Given the description of an element on the screen output the (x, y) to click on. 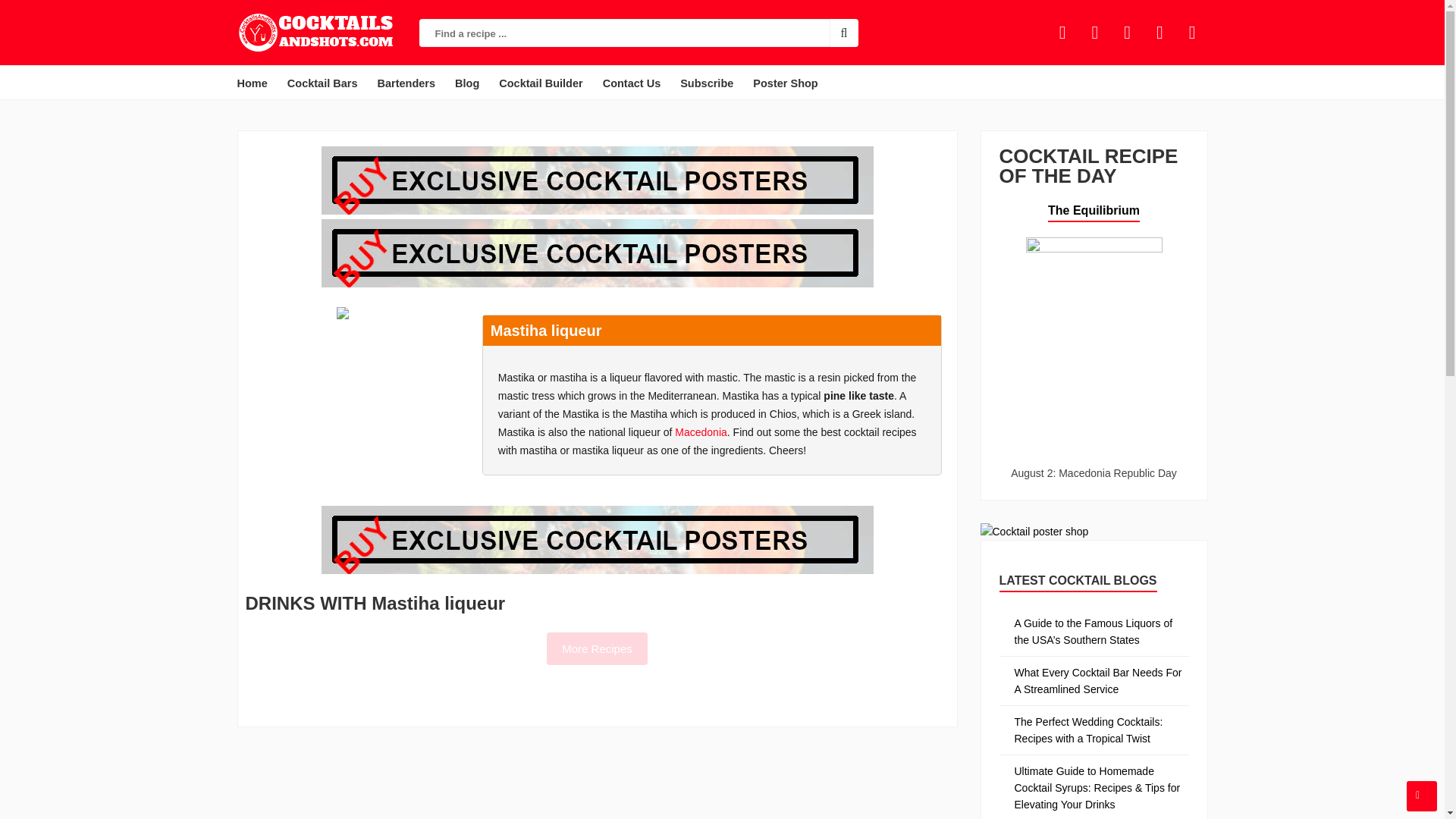
What Every Cocktail Bar Needs For A Streamlined Service (1098, 680)
Cocktail Bars (322, 82)
Home (251, 82)
Macedonia (700, 431)
Bartenders (406, 82)
The Perfect Wedding Cocktails: Recipes with a Tropical Twist (1088, 729)
Blog (466, 82)
Poster Shop (785, 82)
Contact Us (631, 82)
The Equilibrium (1094, 210)
More Recipes (597, 648)
Cocktail Builder (540, 82)
Subscribe (706, 82)
